Given the description of an element on the screen output the (x, y) to click on. 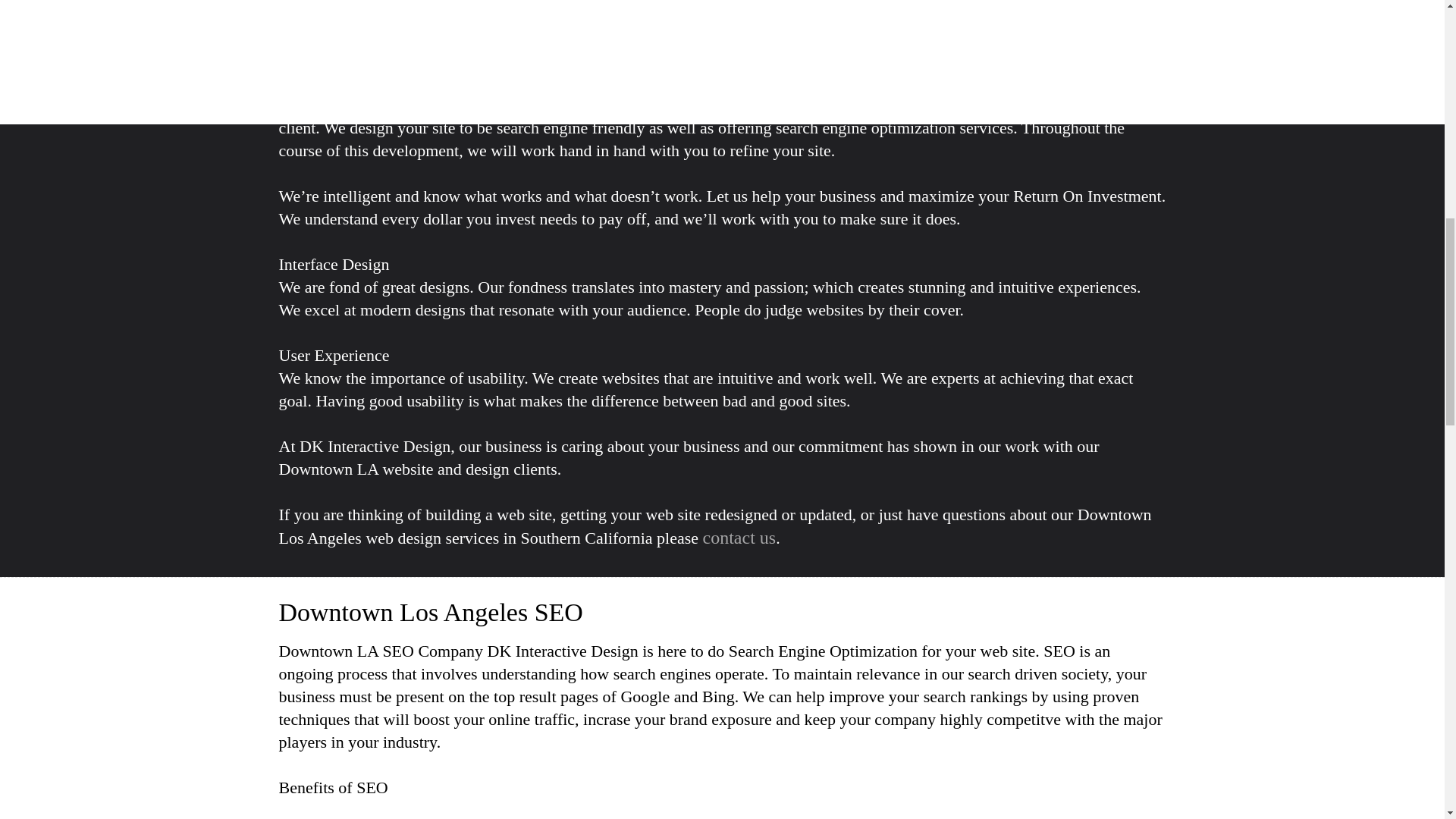
contact us (739, 537)
